Given the description of an element on the screen output the (x, y) to click on. 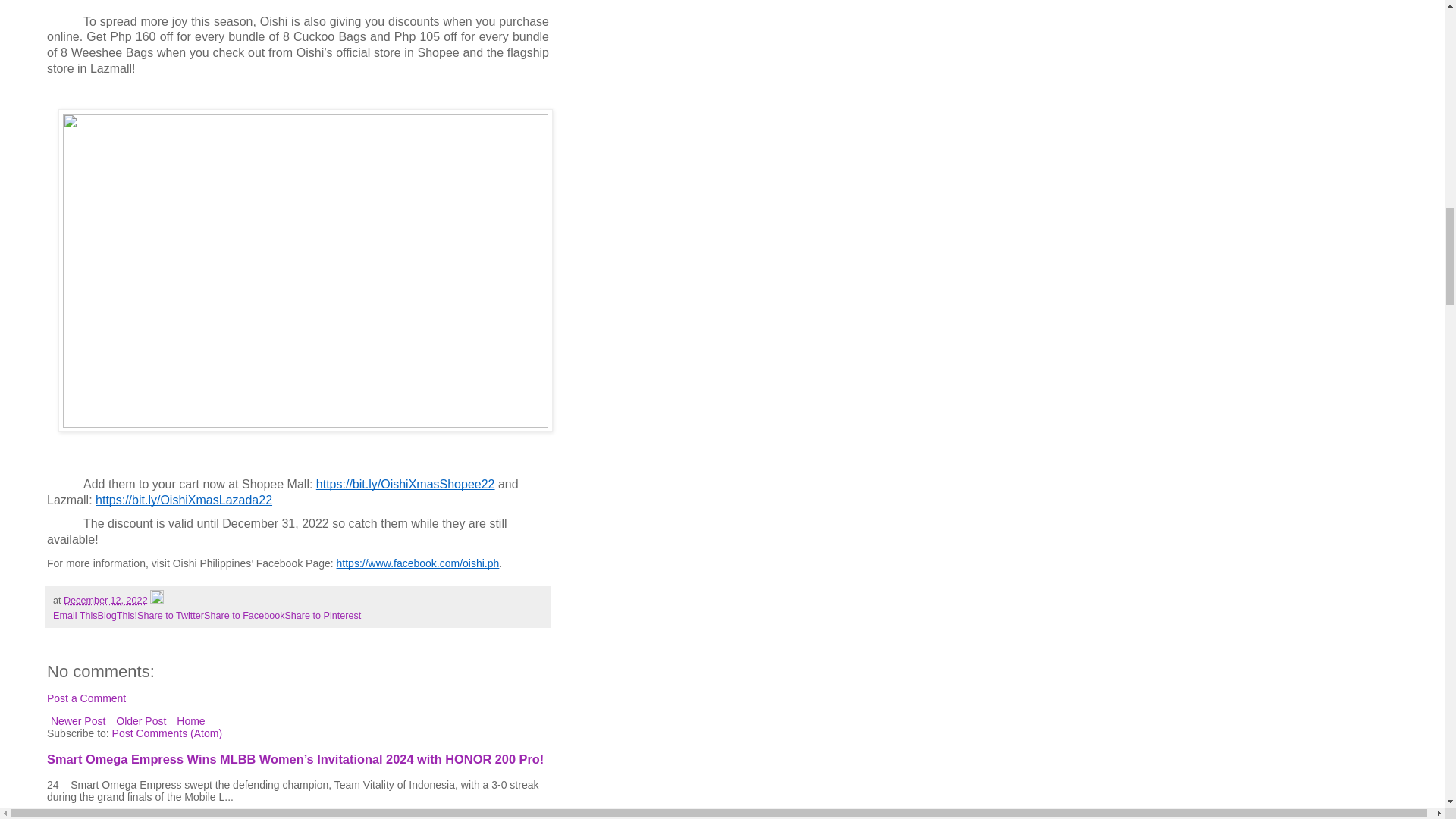
BlogThis! (117, 615)
Older Post (141, 721)
Email This (74, 615)
Older Post (141, 721)
Home (190, 721)
BlogThis! (117, 615)
Share to Facebook (243, 615)
Share to Facebook (243, 615)
Share to Pinterest (322, 615)
December 12, 2022 (106, 600)
Email This (74, 615)
Share to Twitter (169, 615)
Edit Post (156, 600)
Newer Post (77, 721)
Share to Pinterest (322, 615)
